Given the description of an element on the screen output the (x, y) to click on. 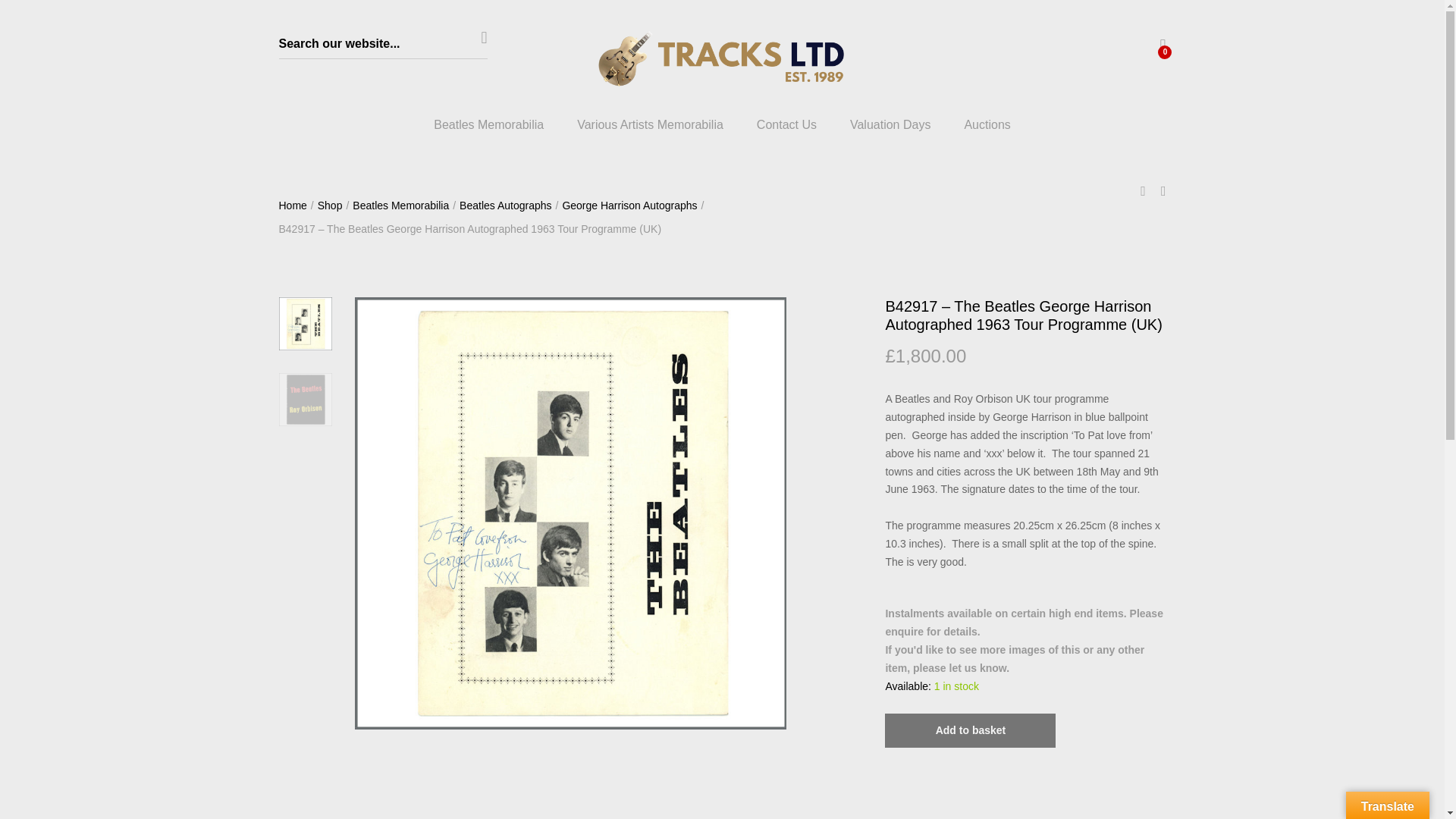
0 (1162, 46)
Various Artists Memorabilia (649, 124)
Beatles Memorabilia (488, 124)
